Given the description of an element on the screen output the (x, y) to click on. 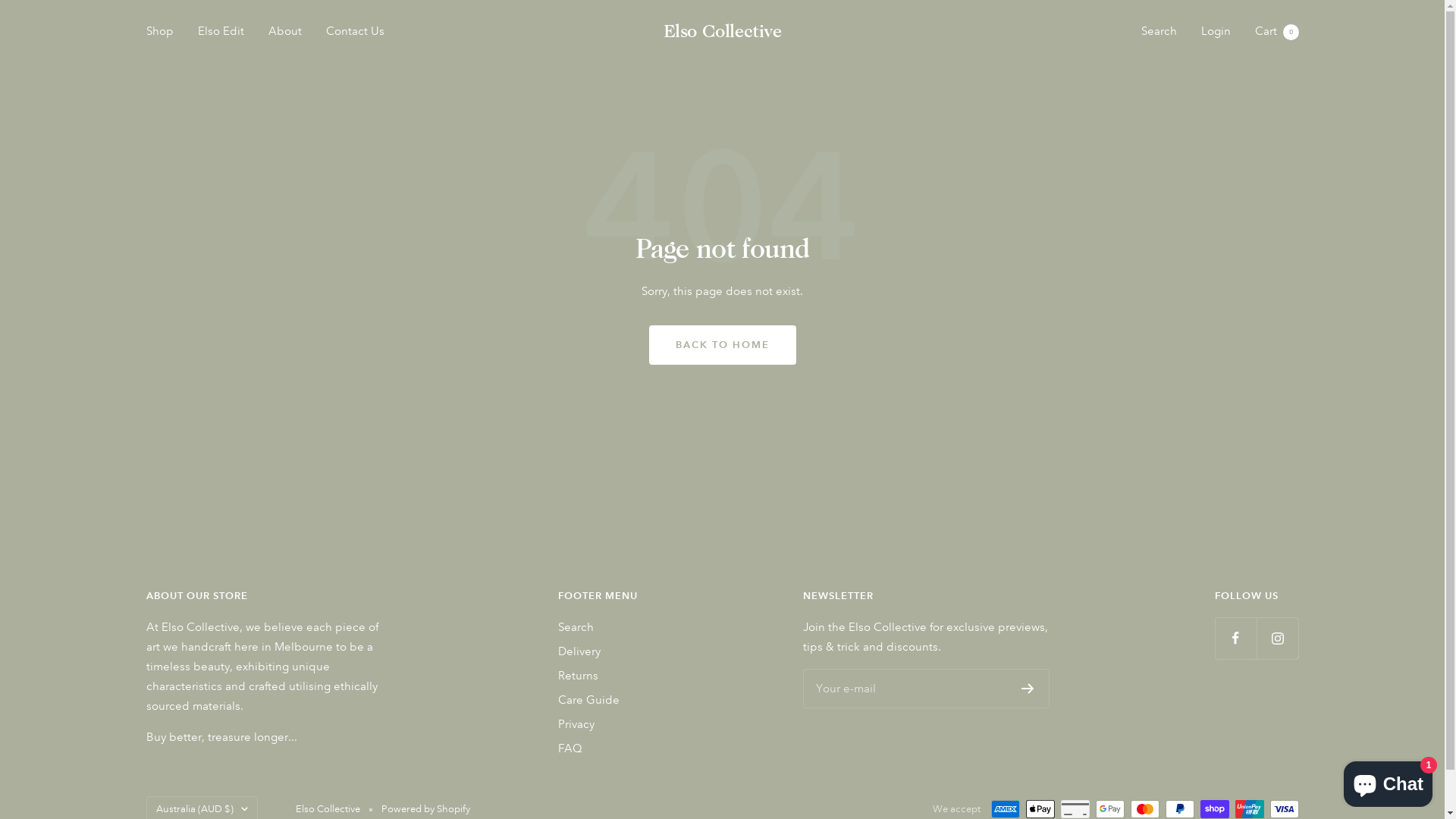
Powered by Shopify Element type: text (424, 808)
BS Element type: text (272, 780)
AO Element type: text (272, 590)
AD Element type: text (272, 571)
AG Element type: text (272, 628)
Search Element type: text (575, 627)
AW Element type: text (272, 685)
Register Element type: hover (1027, 688)
About Element type: text (284, 30)
BH Element type: text (272, 799)
Delivery Element type: text (579, 651)
Elso Collective Element type: text (721, 30)
AM Element type: text (272, 666)
Care Guide Element type: text (588, 699)
Privacy Element type: text (576, 724)
AR Element type: text (272, 647)
AZ Element type: text (272, 761)
AI Element type: text (272, 609)
Returns Element type: text (578, 675)
Shopify online store chat Element type: hover (1388, 780)
AL Element type: text (272, 533)
Elso Edit Element type: text (220, 30)
FAQ Element type: text (570, 748)
Contact Us Element type: text (355, 30)
Cart
0 Element type: text (1276, 30)
AF Element type: text (272, 495)
Shop Element type: text (158, 30)
AT Element type: text (272, 742)
AX Element type: text (272, 514)
DZ Element type: text (272, 552)
Login Element type: text (1215, 30)
AU Element type: text (272, 723)
BACK TO HOME Element type: text (722, 344)
Search Element type: text (1158, 30)
AC Element type: text (272, 704)
